Given the description of an element on the screen output the (x, y) to click on. 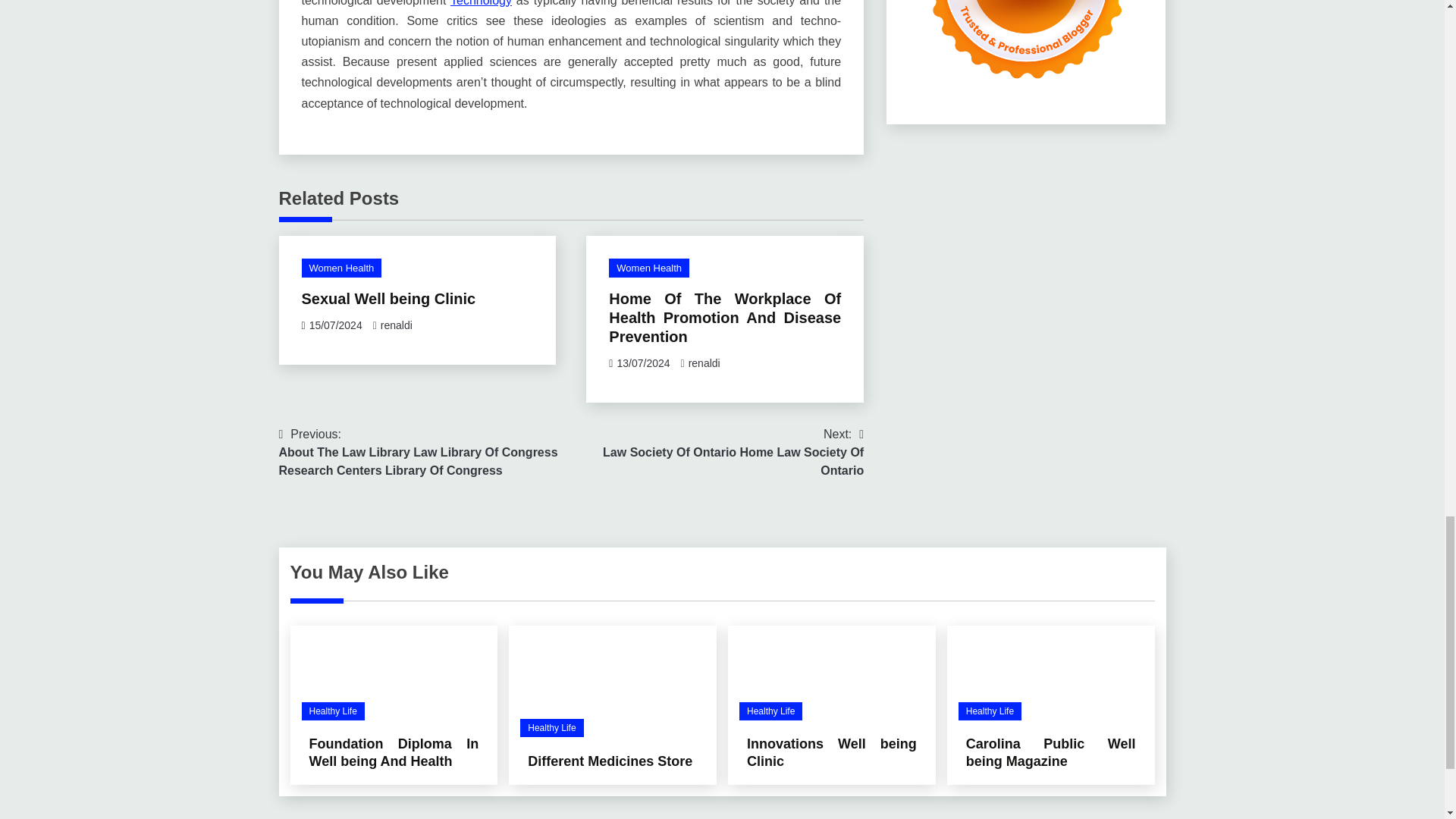
Sexual Well being Clinic (388, 298)
Women Health (648, 268)
Technology (480, 3)
Seedbacklink (1026, 47)
Women Health (341, 268)
renaldi (704, 363)
renaldi (716, 452)
